Given the description of an element on the screen output the (x, y) to click on. 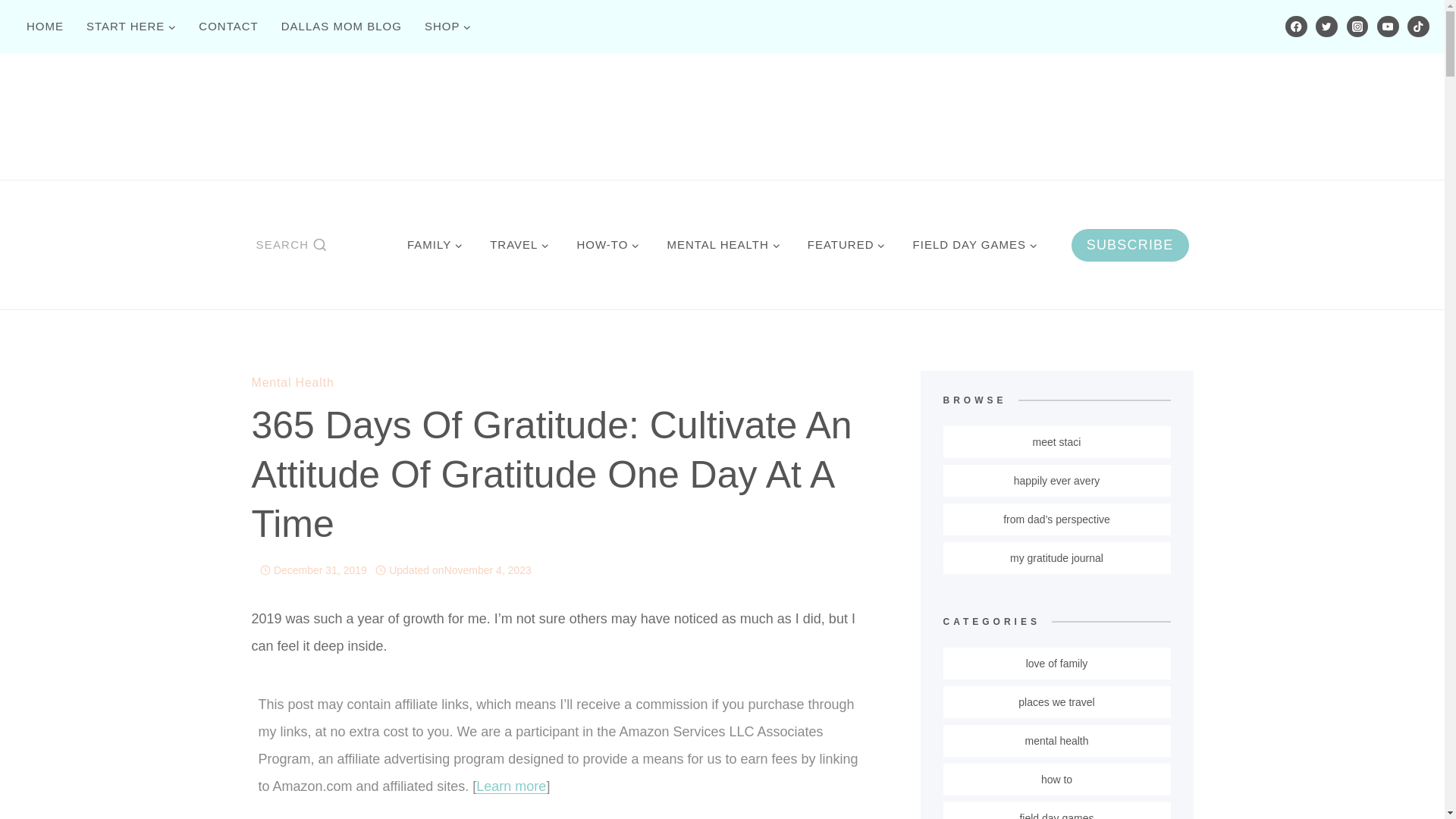
CONTACT (228, 26)
HOW-TO (607, 244)
SHOP (448, 26)
DALLAS MOM BLOG (341, 26)
HOME (44, 26)
START HERE (131, 26)
TRAVEL (519, 244)
FAMILY (434, 244)
SEARCH (291, 244)
